Given the description of an element on the screen output the (x, y) to click on. 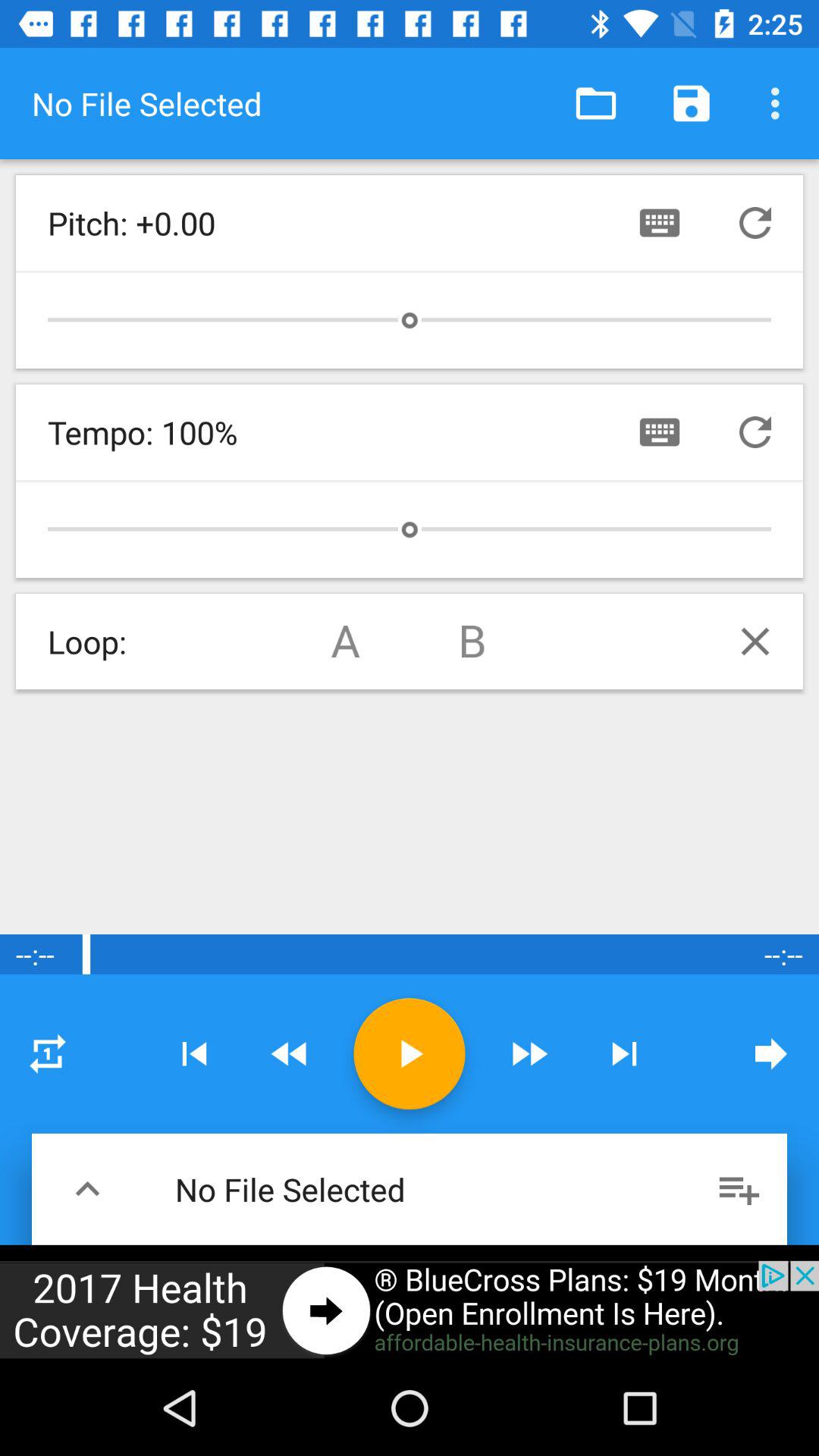
chooses loop a (345, 641)
